Given the description of an element on the screen output the (x, y) to click on. 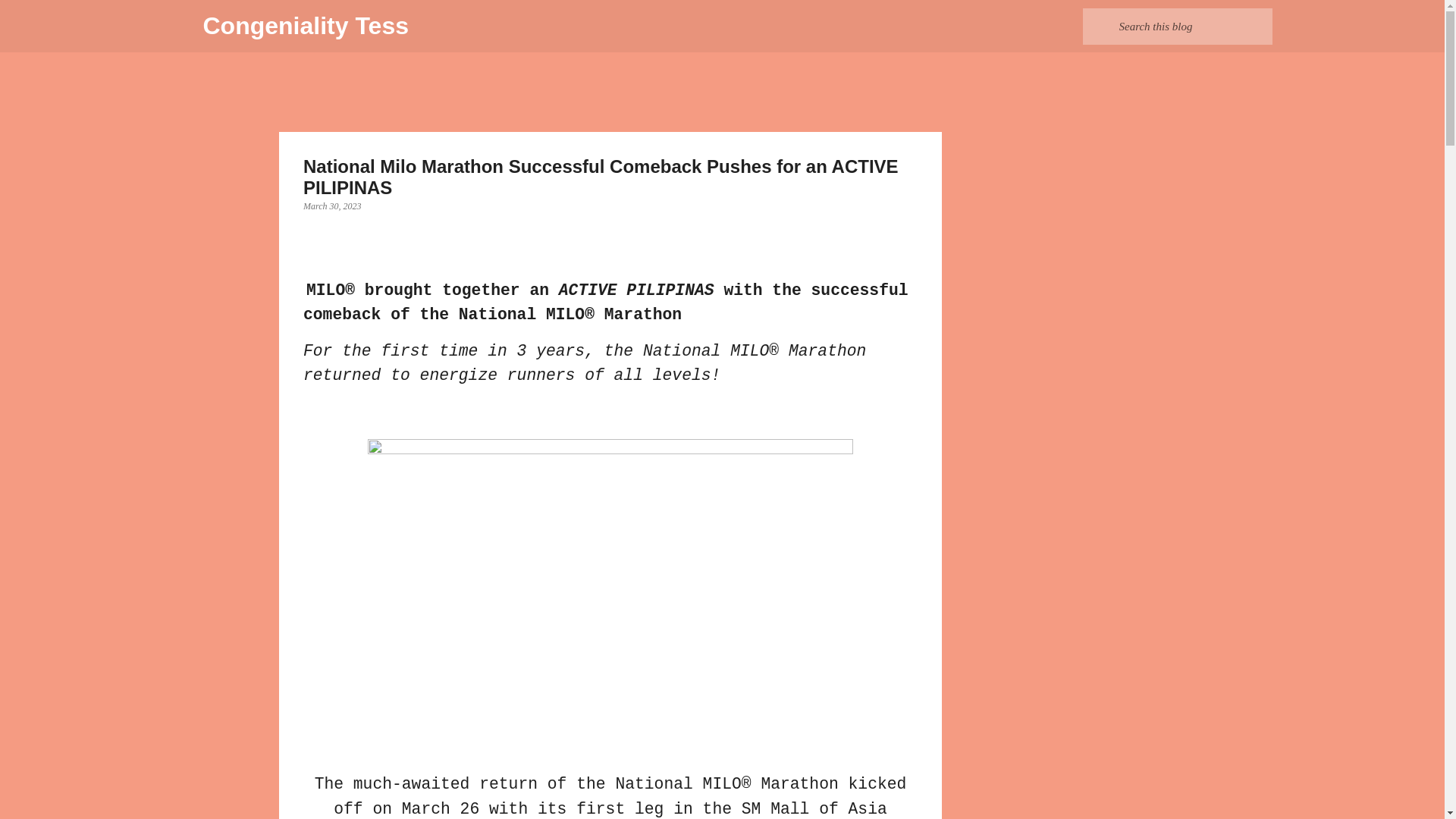
Congeniality Tess (306, 25)
permanent link (331, 205)
March 30, 2023 (331, 205)
